Given the description of an element on the screen output the (x, y) to click on. 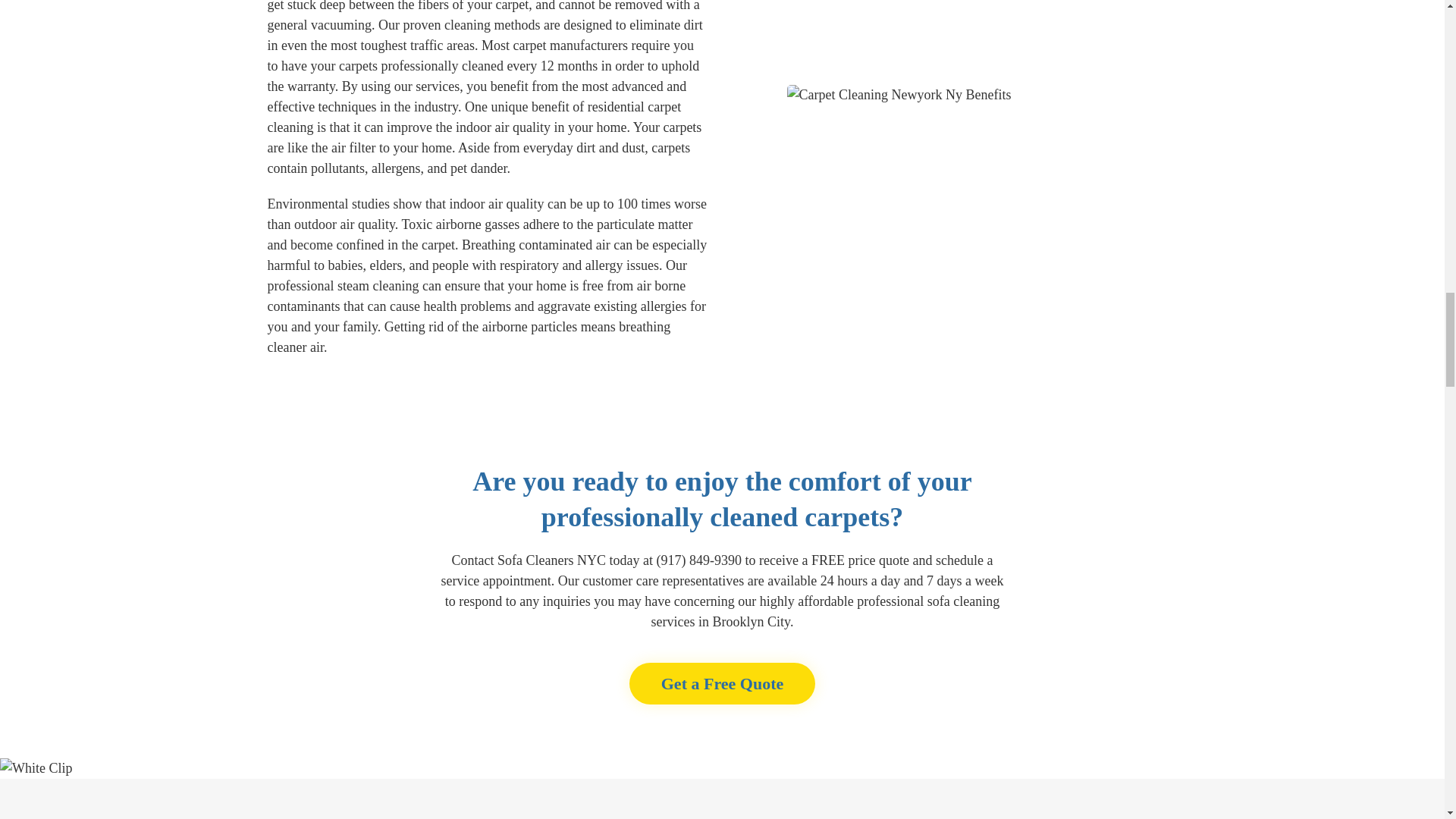
Contact Us (721, 683)
Get a Free Quote (721, 683)
